Given the description of an element on the screen output the (x, y) to click on. 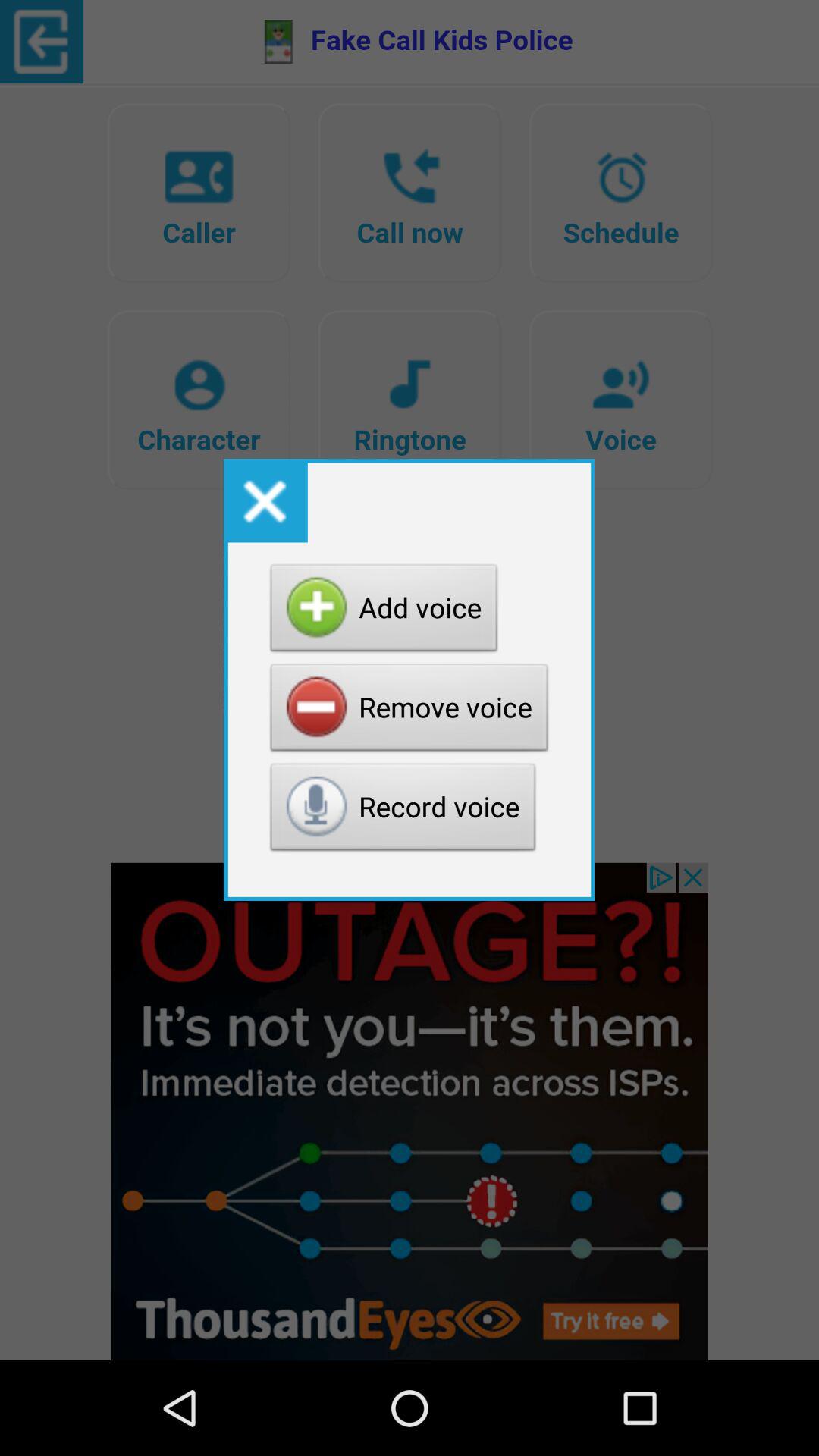
tap the icon on the left (265, 500)
